Given the description of an element on the screen output the (x, y) to click on. 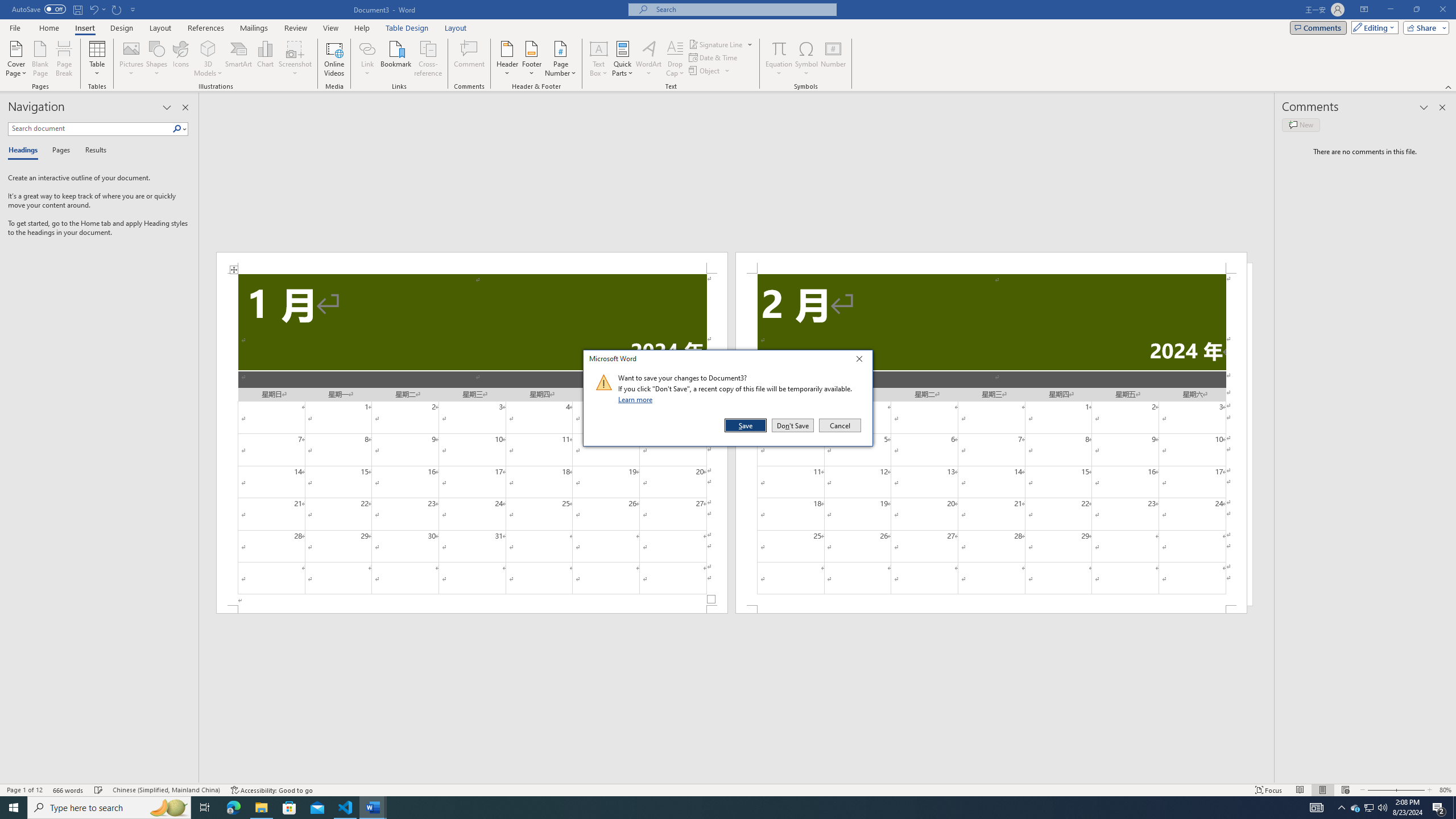
Screenshot (295, 58)
Object... (705, 69)
New comment (1300, 124)
Header -Section 2- (991, 263)
Cancel (839, 425)
Equation (778, 48)
